Given the description of an element on the screen output the (x, y) to click on. 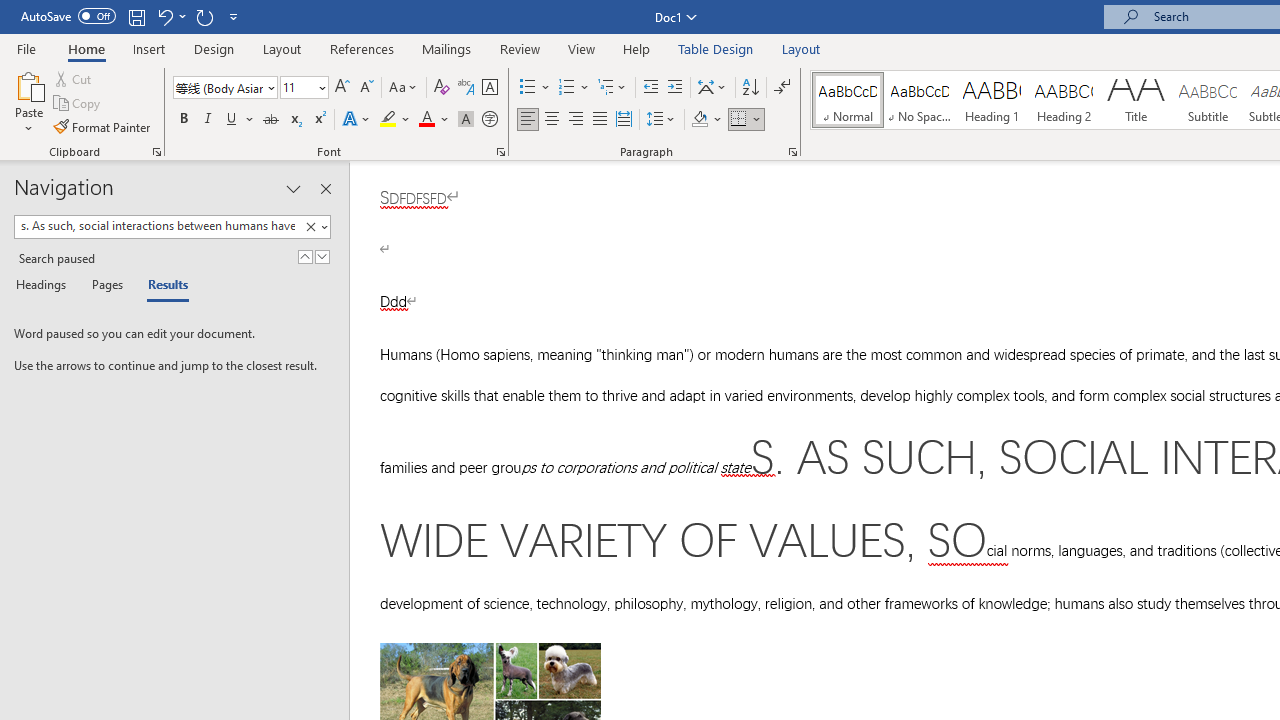
Open (320, 87)
Shading (706, 119)
Shrink Font (365, 87)
Text Effects and Typography (357, 119)
Bold (183, 119)
Cut (73, 78)
Font... (500, 151)
Shading RGB(0, 0, 0) (699, 119)
Text Highlight Color Yellow (388, 119)
Justify (599, 119)
Multilevel List (613, 87)
